Given the description of an element on the screen output the (x, y) to click on. 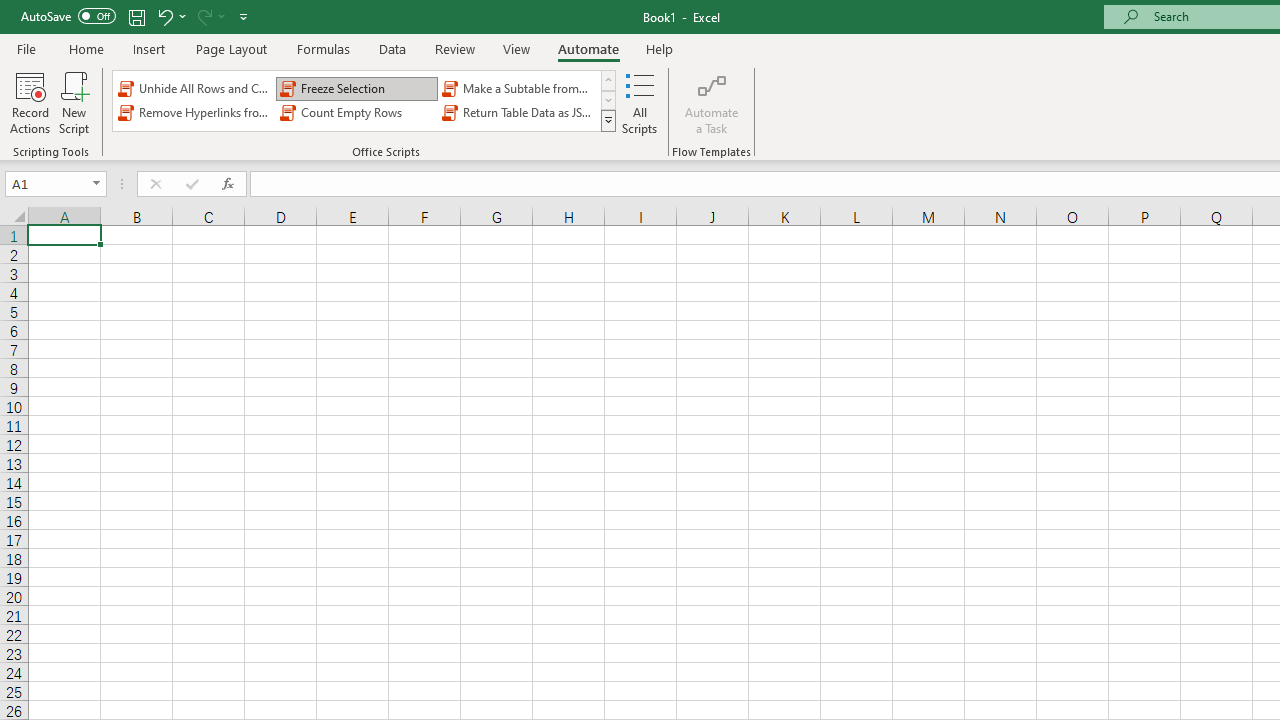
Review (454, 48)
View (517, 48)
Help (660, 48)
Open (96, 183)
Data (392, 48)
Unhide All Rows and Columns (194, 88)
Row up (608, 79)
